Given the description of an element on the screen output the (x, y) to click on. 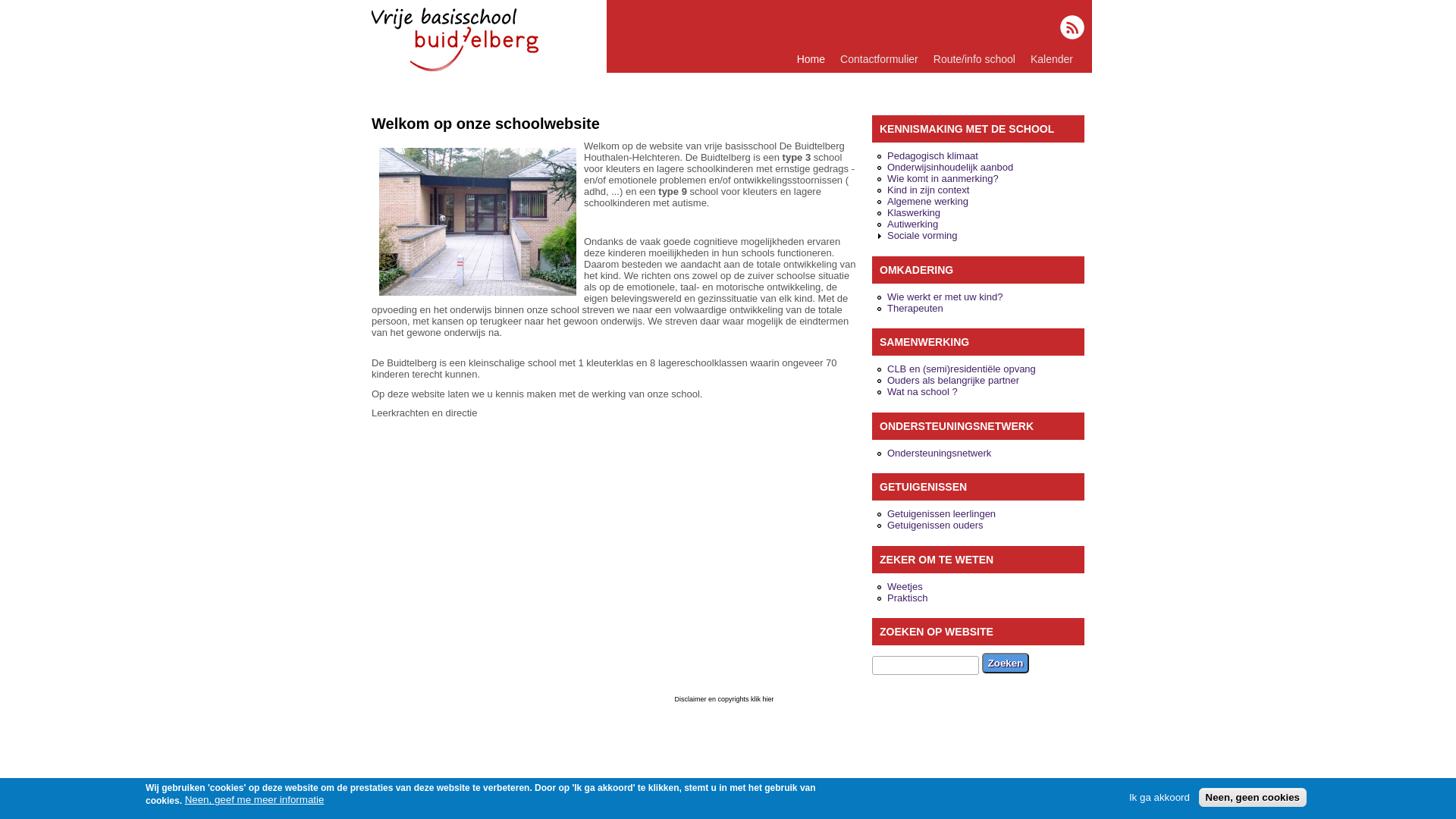
Route/info school Element type: text (973, 58)
Vooraanzicht school Element type: hover (477, 221)
Therapeuten Element type: text (915, 307)
Home Element type: hover (471, 67)
Sociale vorming Element type: text (922, 235)
Ik ga akkoord Element type: text (1159, 797)
Neen, geef me meer informatie Element type: text (254, 799)
Contactformulier Element type: text (878, 58)
Wie komt in aanmerking? Element type: text (942, 178)
Praktisch Element type: text (907, 596)
Klaswerking Element type: text (913, 212)
Autiwerking Element type: text (912, 223)
Zoeken Element type: text (1005, 662)
Kalender Element type: text (1051, 58)
Wat na school ? Element type: text (922, 391)
Home Element type: text (810, 58)
Neen, geen cookies Element type: text (1252, 796)
Wie werkt er met uw kind? Element type: text (944, 296)
klik hier   Element type: text (764, 698)
Weetjes Element type: text (904, 586)
Getuigenissen ouders Element type: text (934, 524)
Algemene werking Element type: text (927, 201)
Pedagogisch klimaat Element type: text (932, 155)
Ondersteuningsnetwerk Element type: text (939, 452)
Ouders als belangrijke partner Element type: text (953, 379)
Geef de woorden op waarnaar u wilt zoeken. Element type: hover (925, 664)
Getuigenissen leerlingen Element type: text (941, 513)
Onderwijsinhoudelijk aanbod Element type: text (950, 166)
Kind in zijn context Element type: text (928, 189)
